Given the description of an element on the screen output the (x, y) to click on. 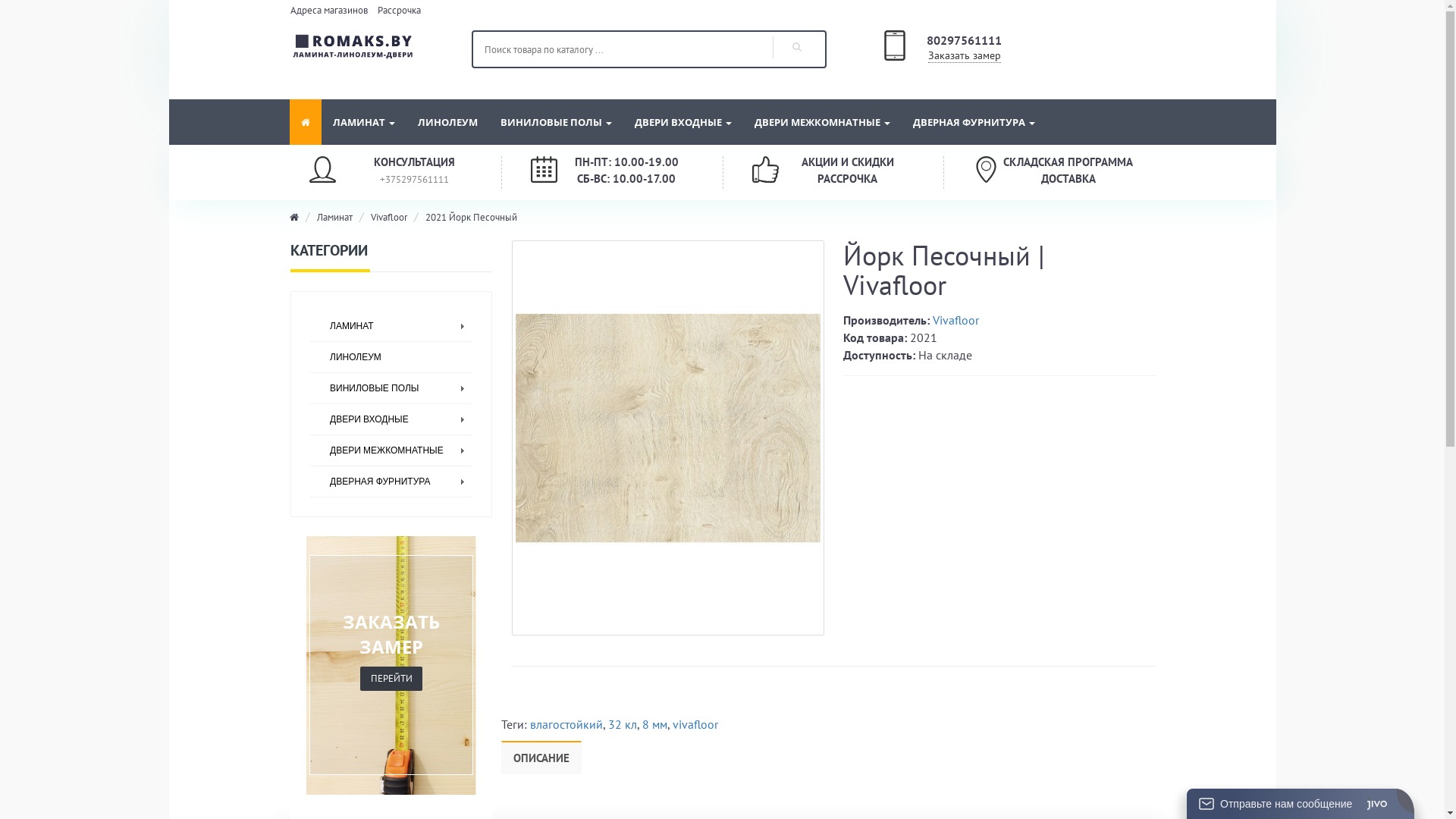
ROMAKS.BY Element type: hover (354, 44)
Vivafloor Element type: text (955, 319)
Vivafloor Element type: text (388, 216)
vivafloor Element type: text (695, 723)
